Given the description of an element on the screen output the (x, y) to click on. 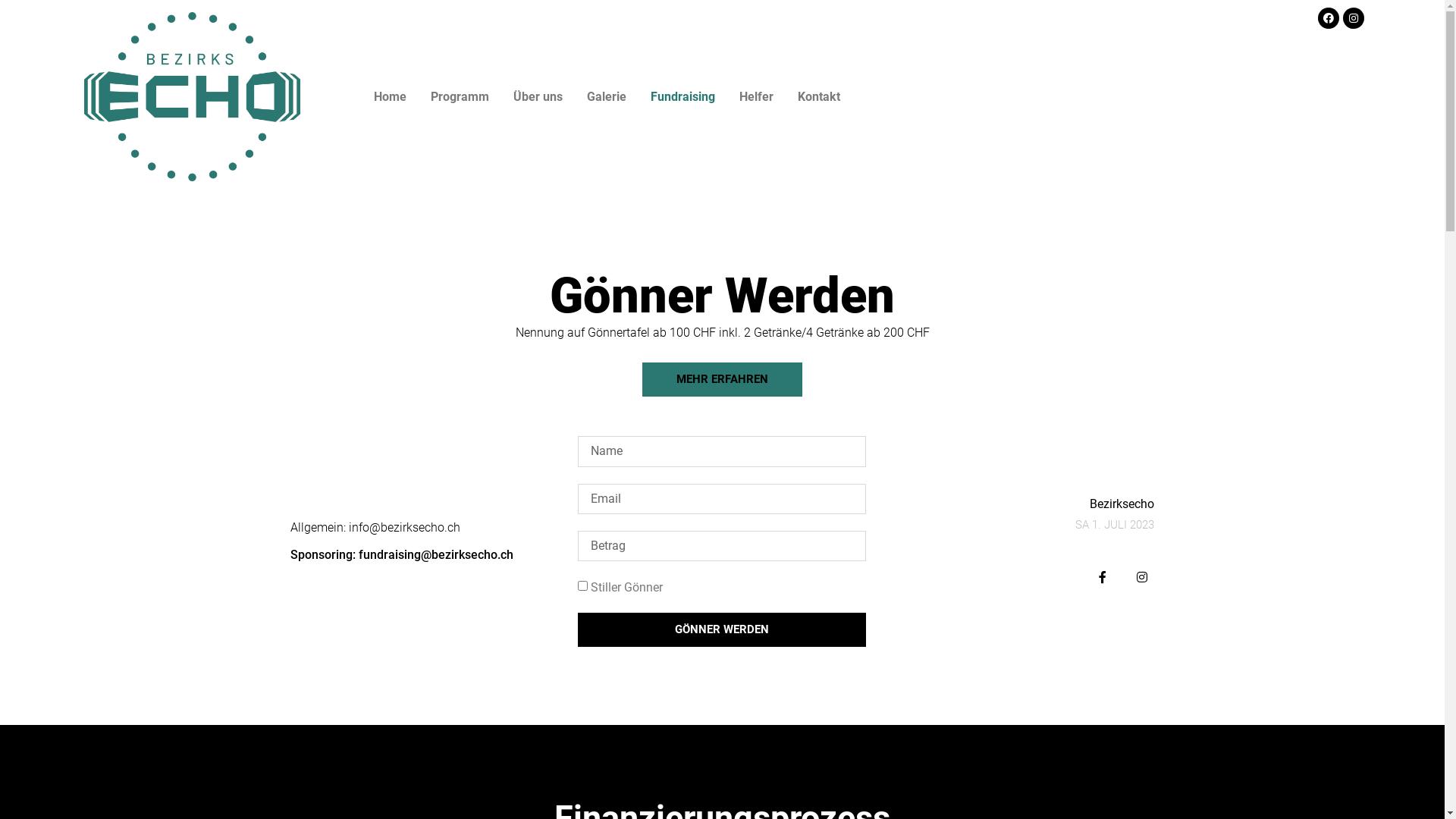
Helfer Element type: text (756, 96)
Galerie Element type: text (606, 96)
Programm Element type: text (459, 96)
MEHR ERFAHREN Element type: text (722, 379)
Fundraising Element type: text (682, 96)
Kontakt Element type: text (818, 96)
Home Element type: text (390, 96)
